Given the description of an element on the screen output the (x, y) to click on. 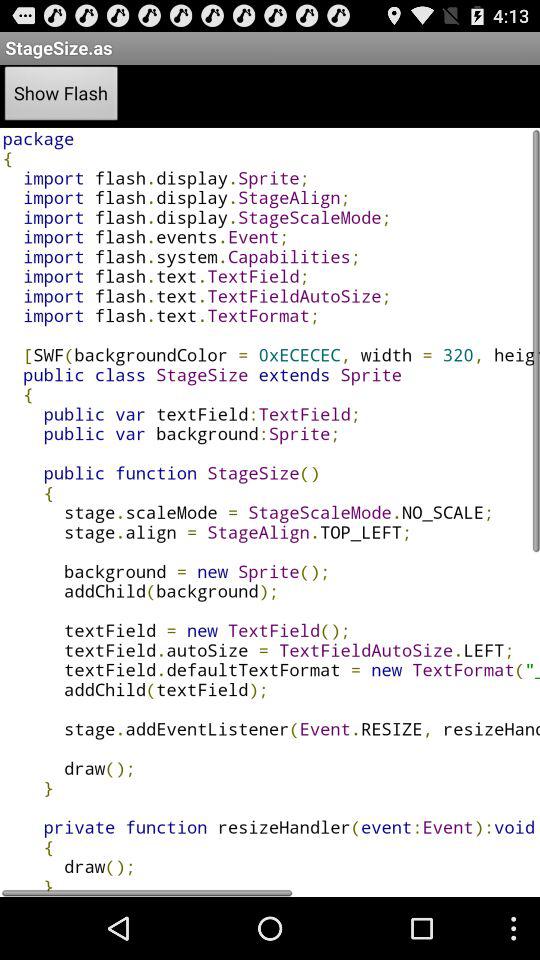
select text (270, 512)
